Given the description of an element on the screen output the (x, y) to click on. 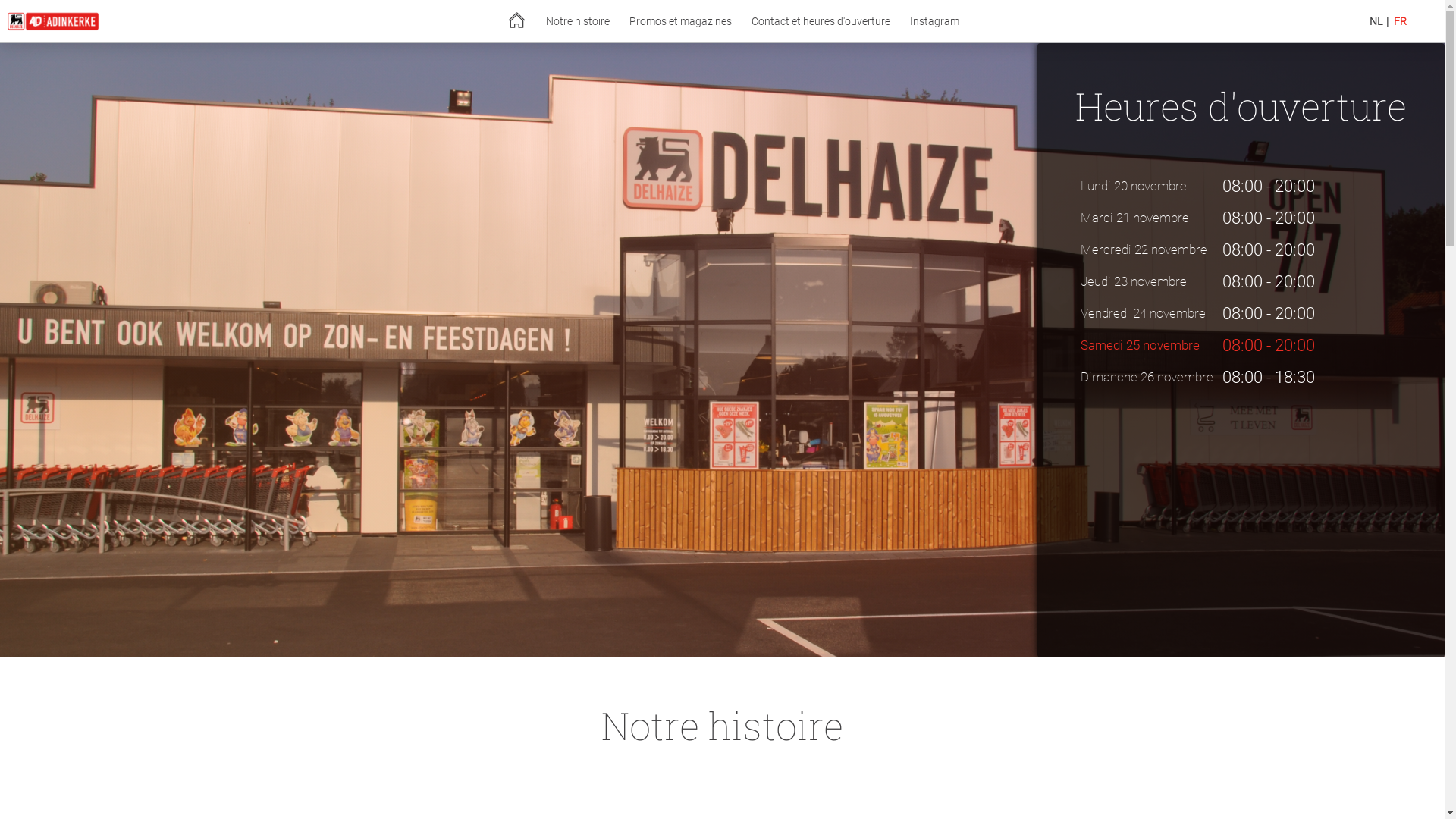
Instagram Element type: text (934, 21)
FR Element type: text (1399, 21)
Contact et heures d'ouverture Element type: text (820, 21)
Promos et magazines Element type: text (680, 21)
Notre histoire Element type: text (577, 21)
NL Element type: text (1375, 21)
